Given the description of an element on the screen output the (x, y) to click on. 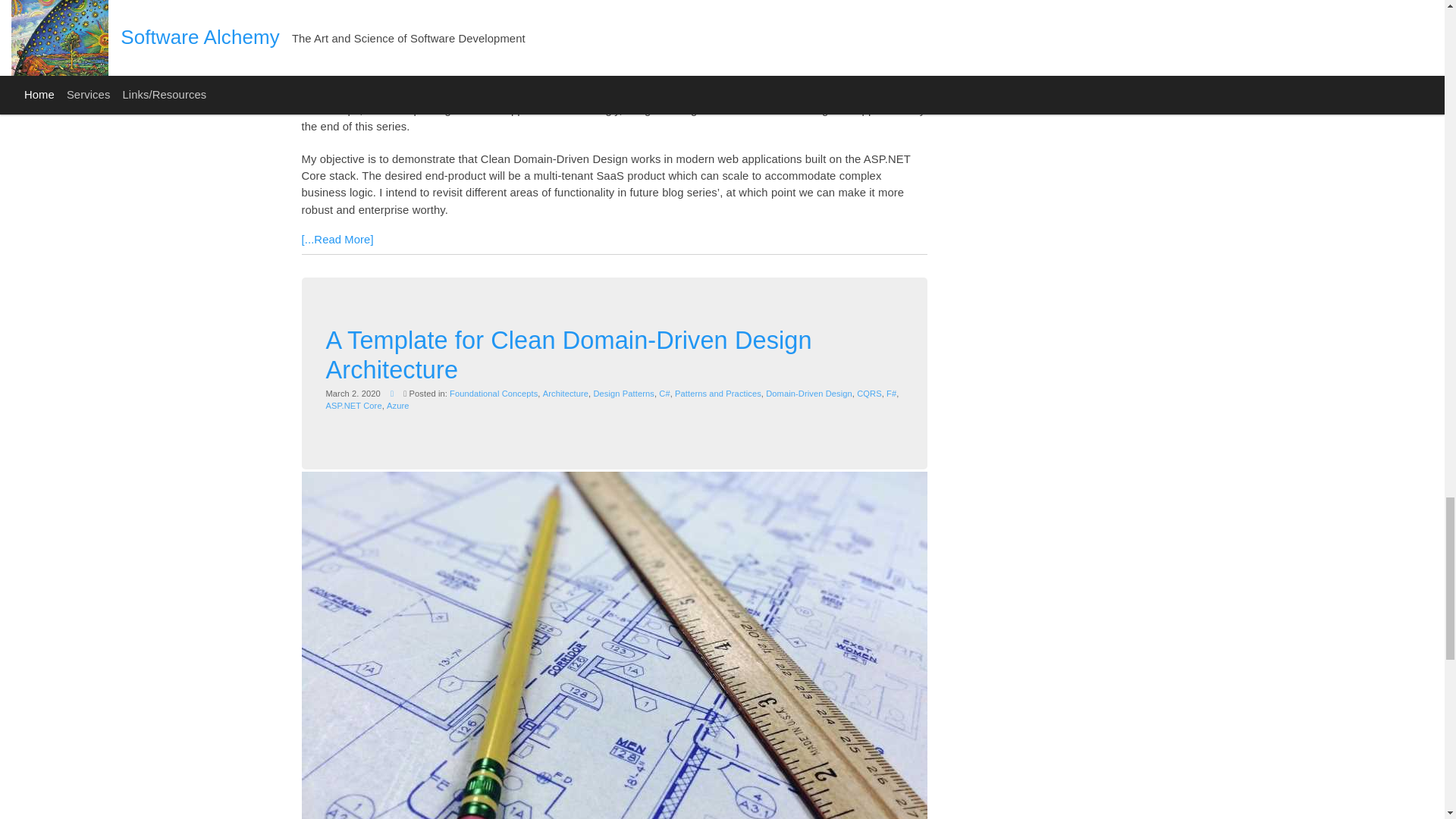
A Template for Clean Domain-Driven Design Architecture (569, 355)
